Given the description of an element on the screen output the (x, y) to click on. 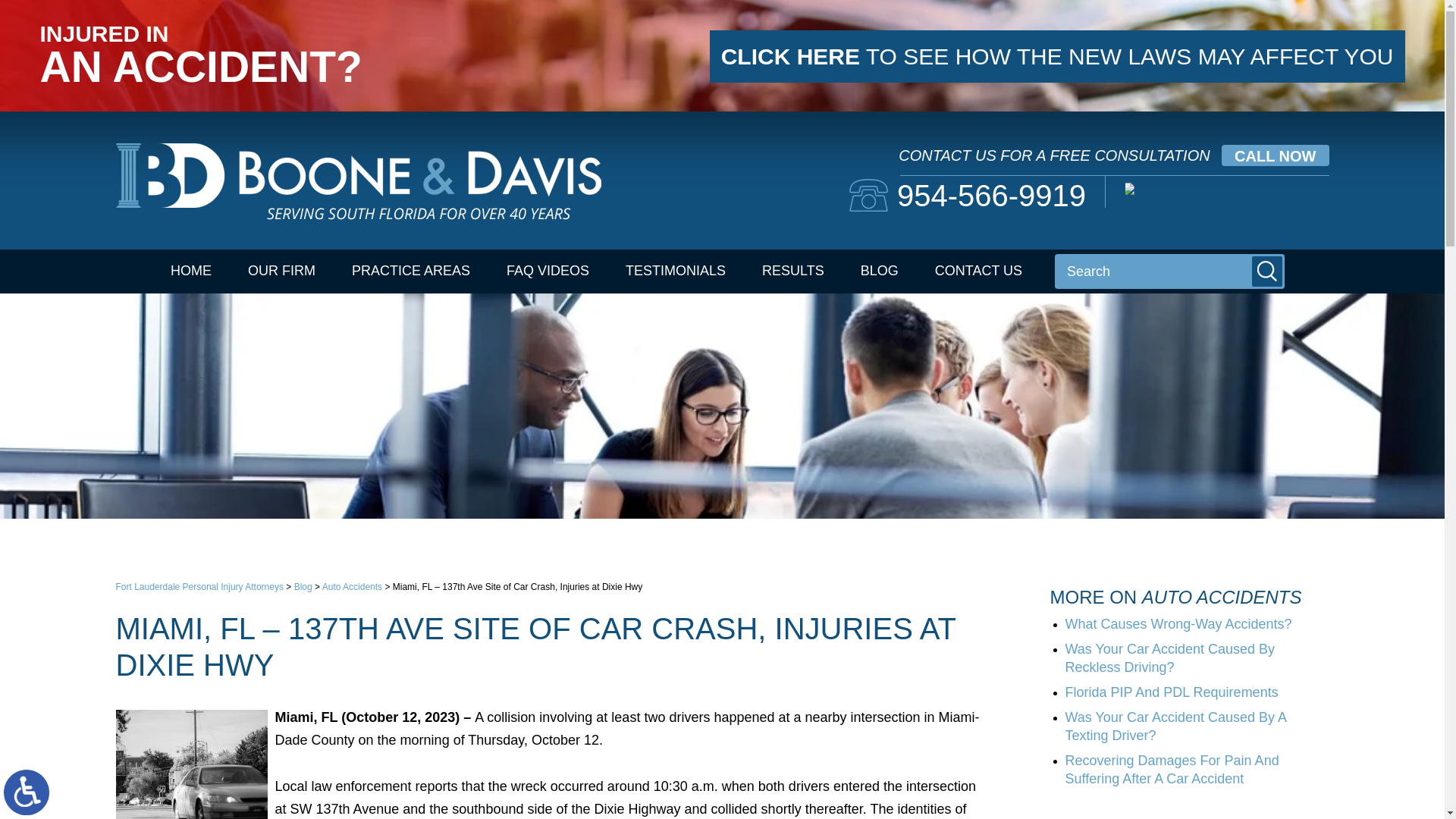
Switch to ADA Accessible Theme (26, 791)
CLICK HERE TO SEE HOW THE NEW LAWS MAY AFFECT YOU (1057, 56)
PRACTICE AREAS (410, 271)
954-566-9919 (967, 195)
Submit (1267, 271)
HOME (191, 271)
OUR FIRM (281, 271)
CALL NOW (1274, 155)
